Given the description of an element on the screen output the (x, y) to click on. 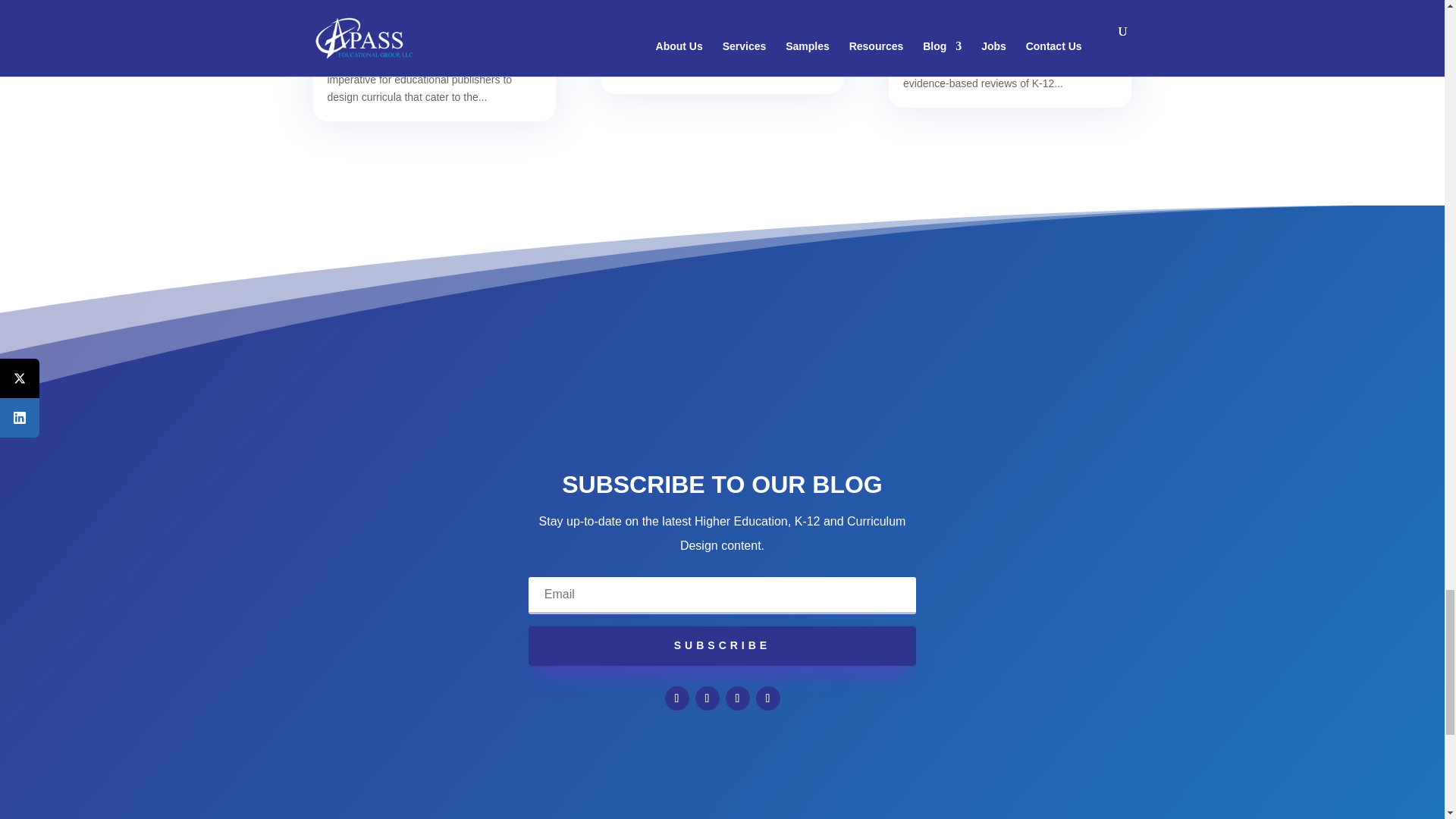
SUBSCRIBE (721, 645)
Follow on LinkedIn (737, 698)
Follow on Instagram (766, 698)
Follow on Twitter (706, 698)
Importance of Writing in Math Curriculum (719, 10)
Follow on Facebook (675, 698)
